Given the description of an element on the screen output the (x, y) to click on. 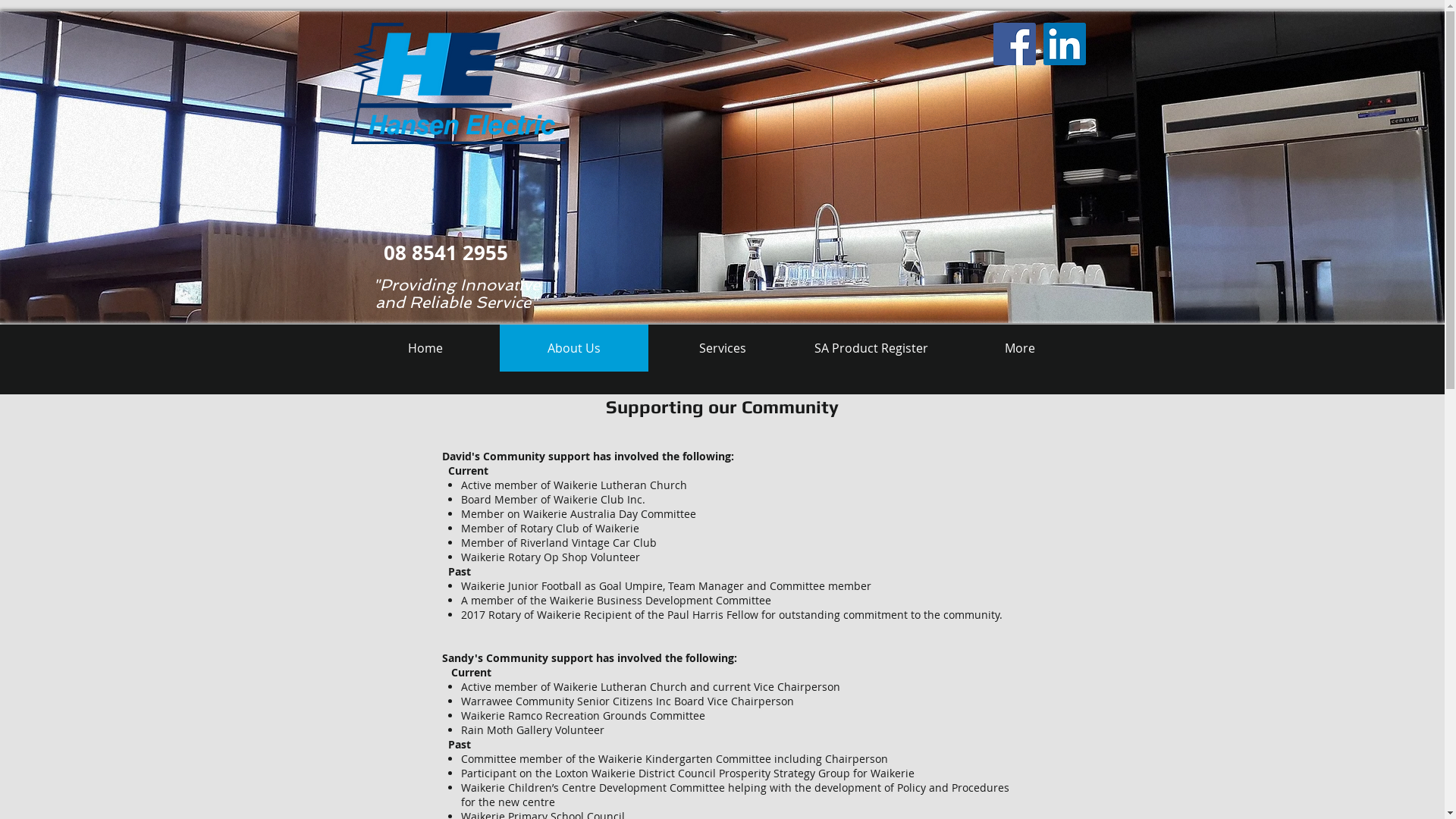
Hansen Electric_nobackground_MED.png Element type: hover (457, 83)
About Us Element type: text (572, 347)
SA Product Register Element type: text (870, 347)
Services Element type: text (721, 347)
Home Element type: text (424, 347)
